Given the description of an element on the screen output the (x, y) to click on. 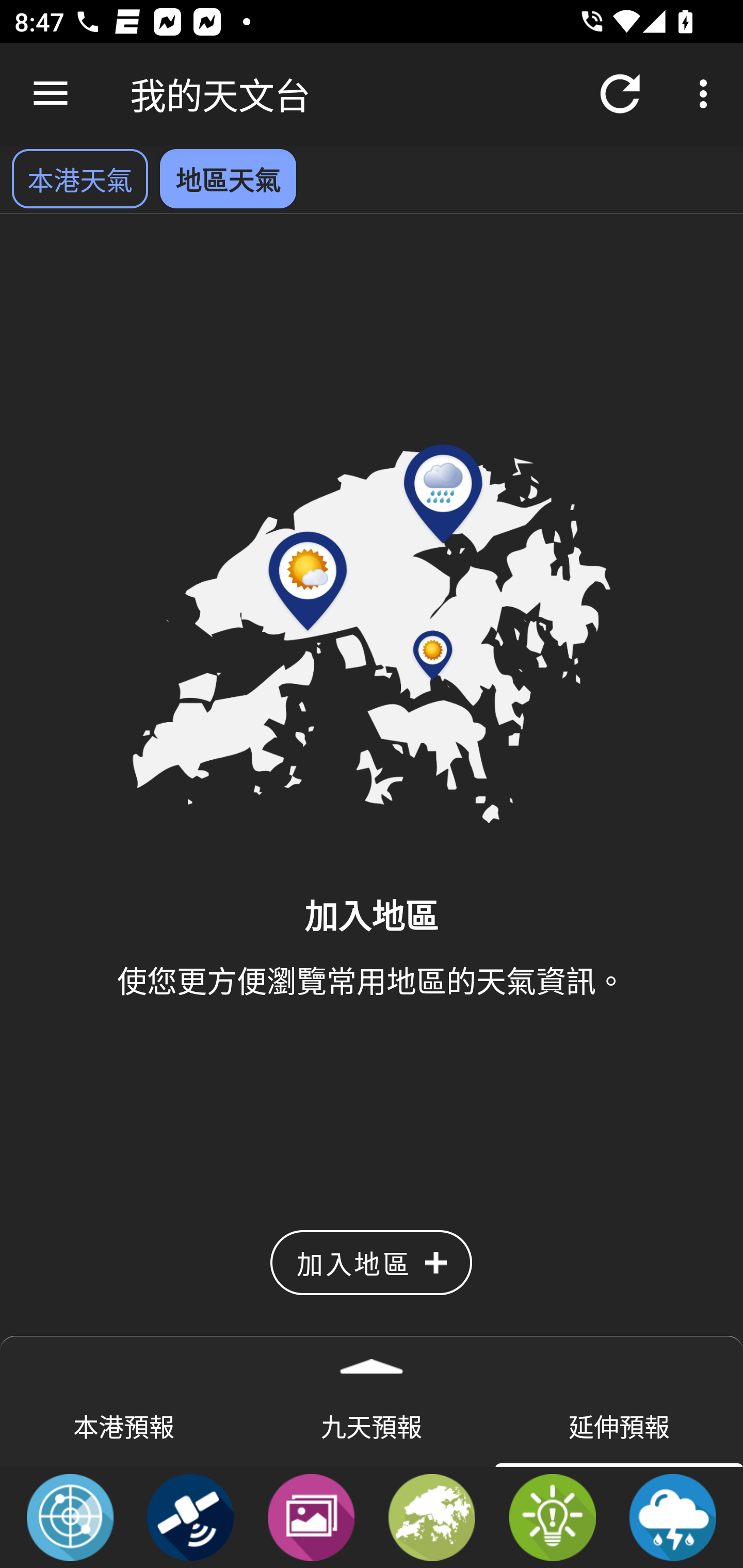
向上瀏覽 (50, 93)
重新整理 (619, 93)
更多選項 (706, 93)
本港天氣 選擇 本港天氣 (79, 178)
地區天氣 已選擇 地區天氣 (227, 178)
加入地區 (370, 1262)
展開 (371, 1358)
本港預報 (123, 1424)
九天預報 (371, 1424)
雷達圖像 (69, 1516)
衛星圖像 (190, 1516)
天氣照片 (310, 1516)
分區天氣 (431, 1516)
天氣提示 (551, 1516)
定點降雨及閃電預報 (672, 1516)
